Given the description of an element on the screen output the (x, y) to click on. 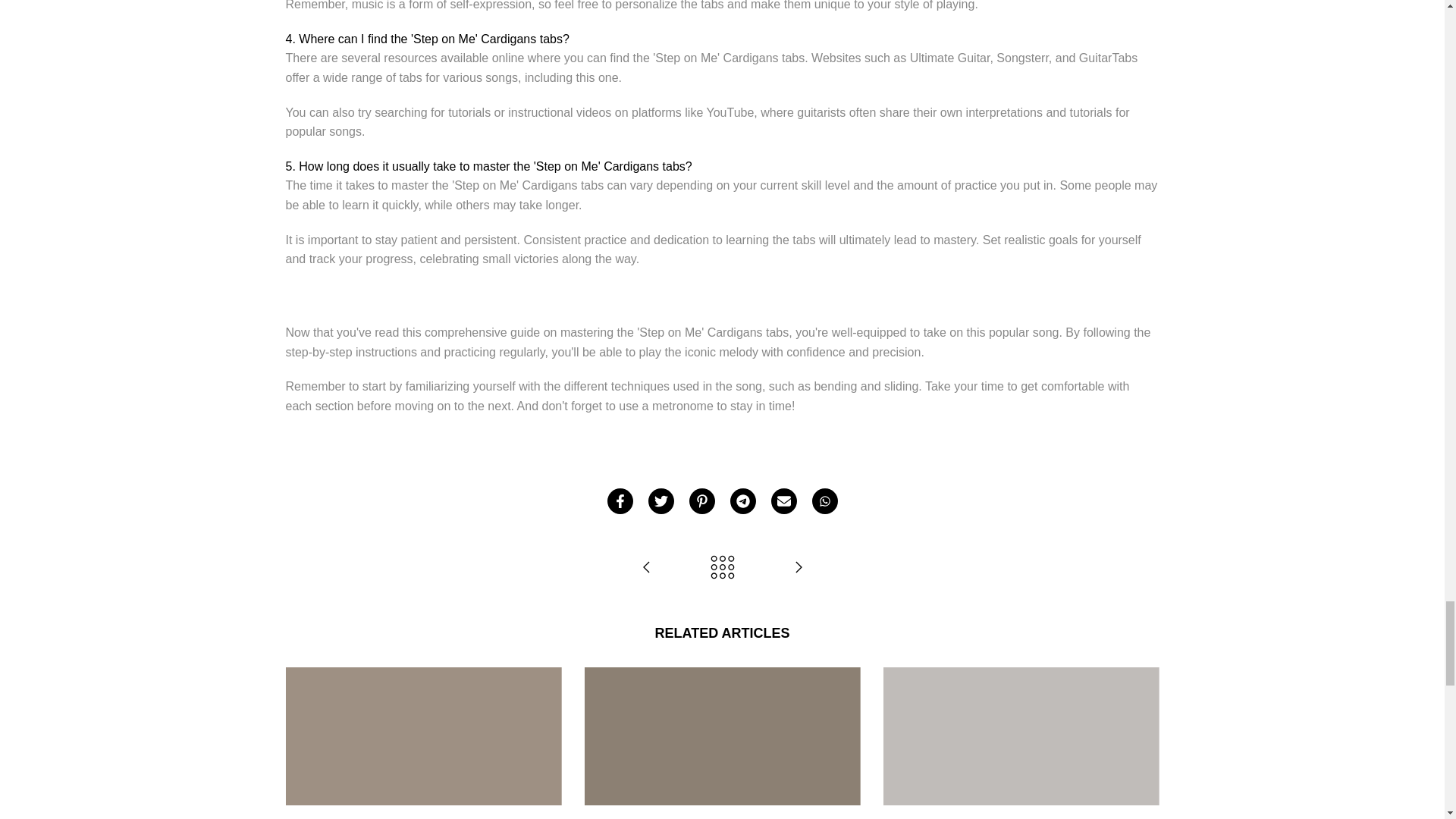
Share on Twitter (659, 501)
Share on Facebook (619, 501)
Back to Cardigans (722, 568)
Share on Email (783, 501)
Do Cardigans Make You Look Old? (646, 568)
Share on WhatsApp (823, 501)
Share on Pinterest (701, 501)
Share on Telegram (742, 501)
